Given the description of an element on the screen output the (x, y) to click on. 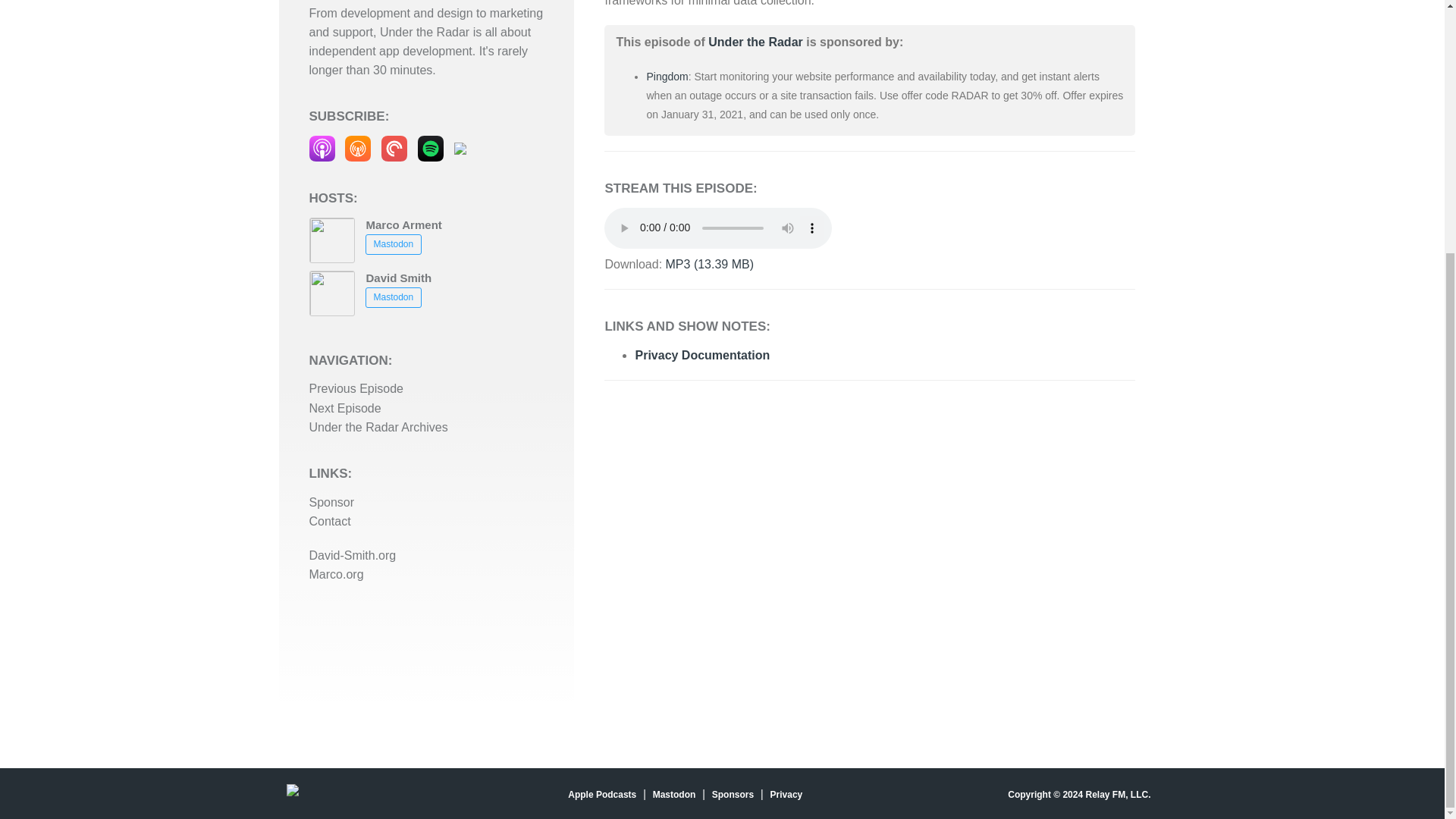
Sponsor (331, 502)
Listen on Spotify (430, 147)
Previous Episode (356, 388)
David Smith (397, 277)
Marco Arment (403, 224)
Subscribe in Apple Podcasts (321, 147)
Contact (329, 521)
Mastodon (393, 243)
Mastodon (393, 297)
Subscribe via RSS (459, 147)
David-Smith.org (352, 554)
Add to Overcast (358, 147)
Under the Radar Archives (378, 427)
Next Episode (344, 408)
Add to Pocket Casts (394, 147)
